Given the description of an element on the screen output the (x, y) to click on. 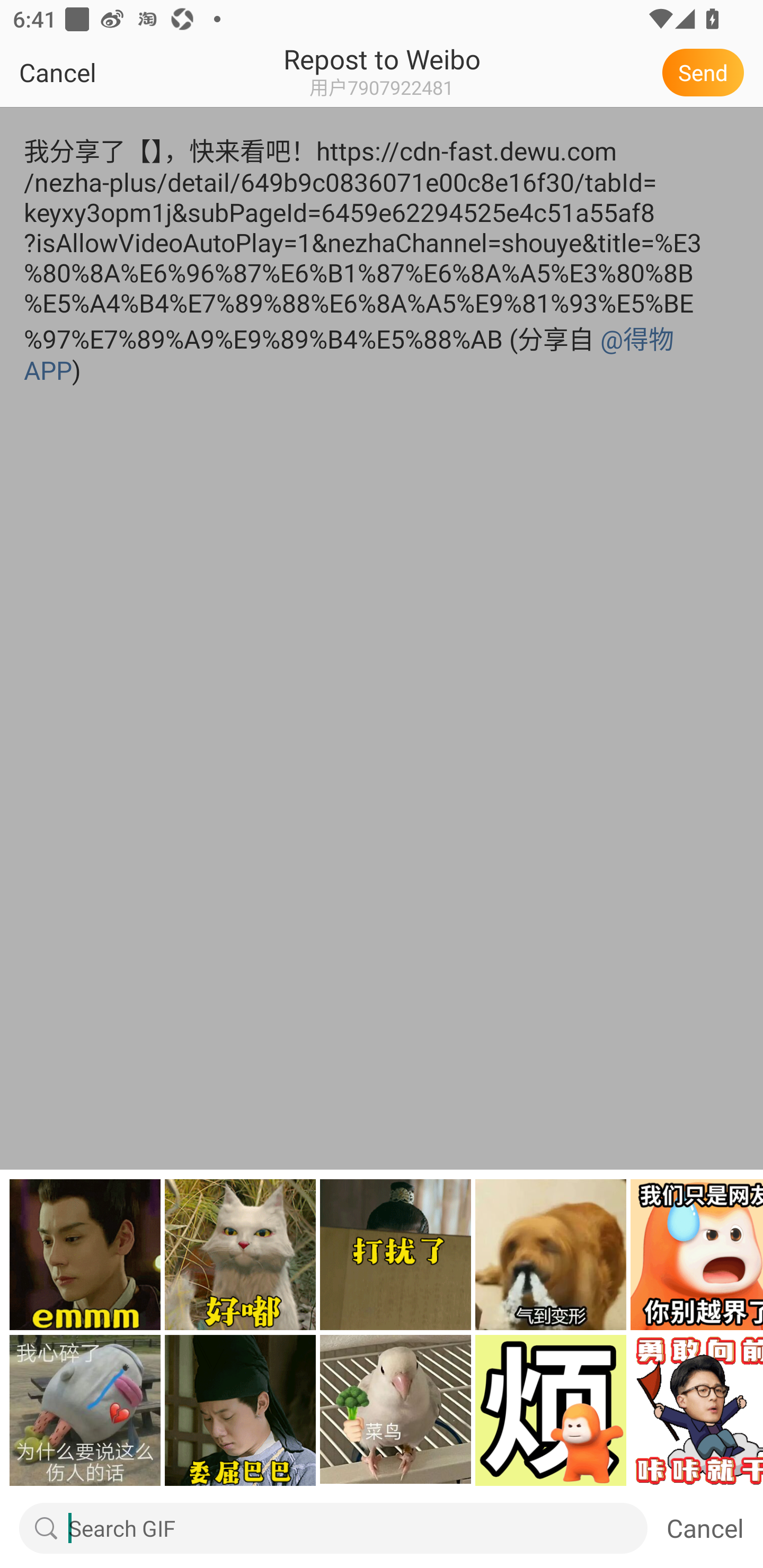
Cancel (99, 71)
Send (706, 71)
b10c1bc2ly1hnm05gv29qg206o06ok26 (84, 1254)
b10c1bc2ly1hnm05i0i79g206o06oamg (239, 1254)
b10c1bc2ly1hnlza93jzag206o06odmy (394, 1254)
b10c1bc2ly1hnkw9l7t7qj208c08cq2y (550, 1254)
b10c1bc2ly1hnm8tmpm2vg208c08c1kx (696, 1254)
b10c1bc2ly1hnlza90eiij208c08cq35 (84, 1410)
b10c1bc2ly1hnlza92trng206o06o166 (239, 1410)
b10c1bc2ly1hnkw9l4sl3j208c088q36 (394, 1410)
b10c1bc2ly1hnm736upslg208c08ctd5 (550, 1410)
b10c1bc2ly1hnlma19zezg206o06on8c (696, 1410)
Pictures Upload (76, 1527)
Search GIF (357, 1527)
Cancel (704, 1527)
